Given the description of an element on the screen output the (x, y) to click on. 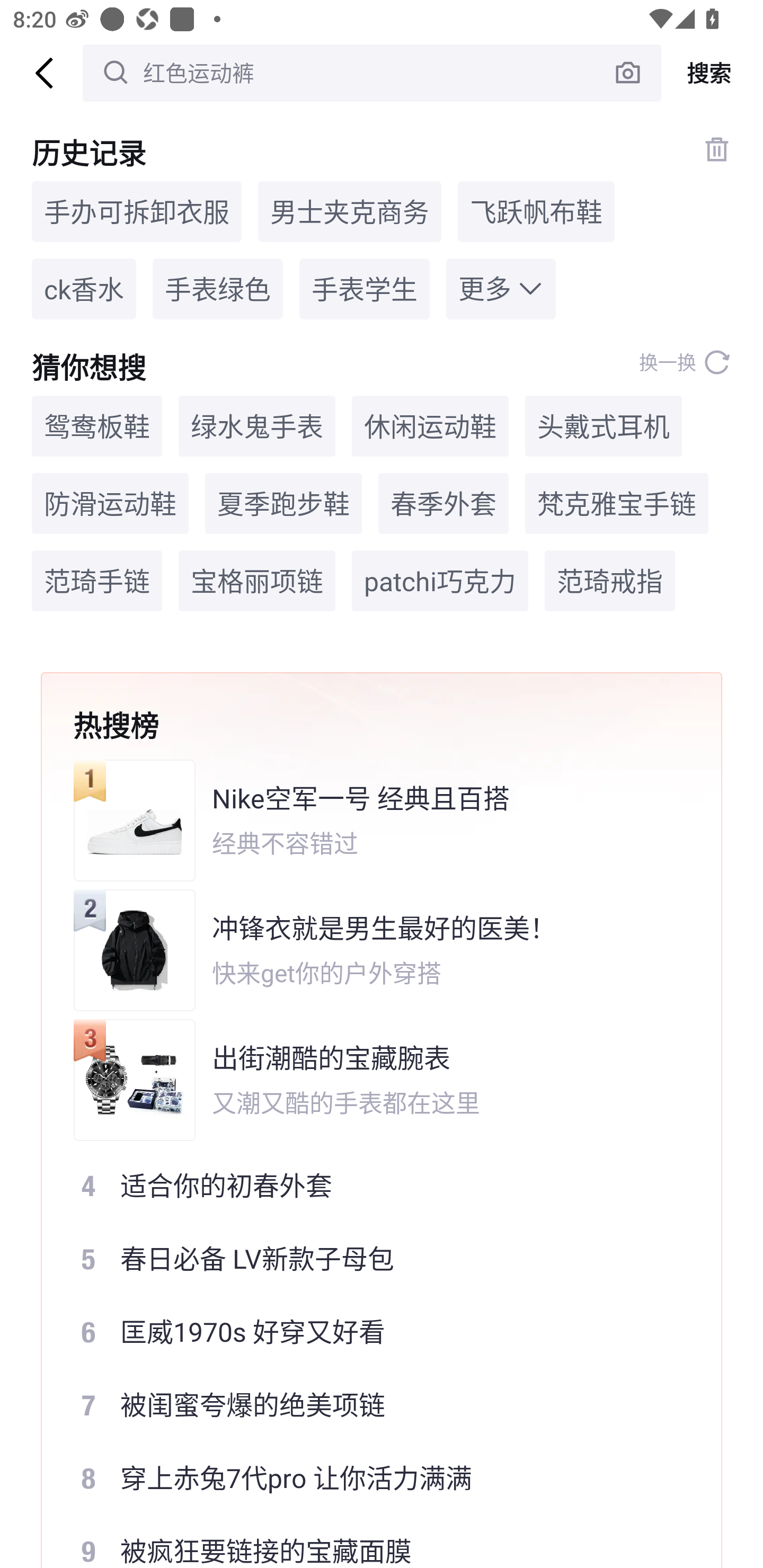
搜索 (712, 72)
红色运动裤 (371, 72)
手办可拆卸衣服 (136, 211)
男士夹克商务 (349, 211)
飞跃帆布鞋 (535, 211)
ck香水 (83, 288)
手表绿色 (217, 288)
手表学生 (364, 288)
更多  (500, 288)
换一换 (684, 362)
鸳鸯板鞋 (96, 425)
绿水鬼手表 (256, 425)
休闲运动鞋 (429, 425)
头戴式耳机 (603, 425)
防滑运动鞋 (110, 503)
夏季跑步鞋 (283, 503)
春季外套 (443, 503)
梵克雅宝手链 (616, 503)
范琦手链 (96, 580)
宝格丽项链 (256, 580)
patchi巧克力 (439, 580)
范琦戒指 (609, 580)
Nike空军一号 经典且百搭 经典不容错过 (369, 819)
冲锋衣就是男生最好的医美！ 快来get你的户外穿搭 (369, 950)
出街潮酷的宝藏腕表 又潮又酷的手表都在这里 (369, 1080)
4 适合你的初春外套 (369, 1185)
5 春日必备 LV新款子母包 (369, 1258)
6 匡威1970s 好穿又好看 (369, 1331)
7 被闺蜜夸爆的绝美项链 (369, 1404)
8 穿上赤兔7代pro 让你活力满满 (369, 1477)
9 被疯狂要链接的宝藏面膜 (369, 1541)
